Given the description of an element on the screen output the (x, y) to click on. 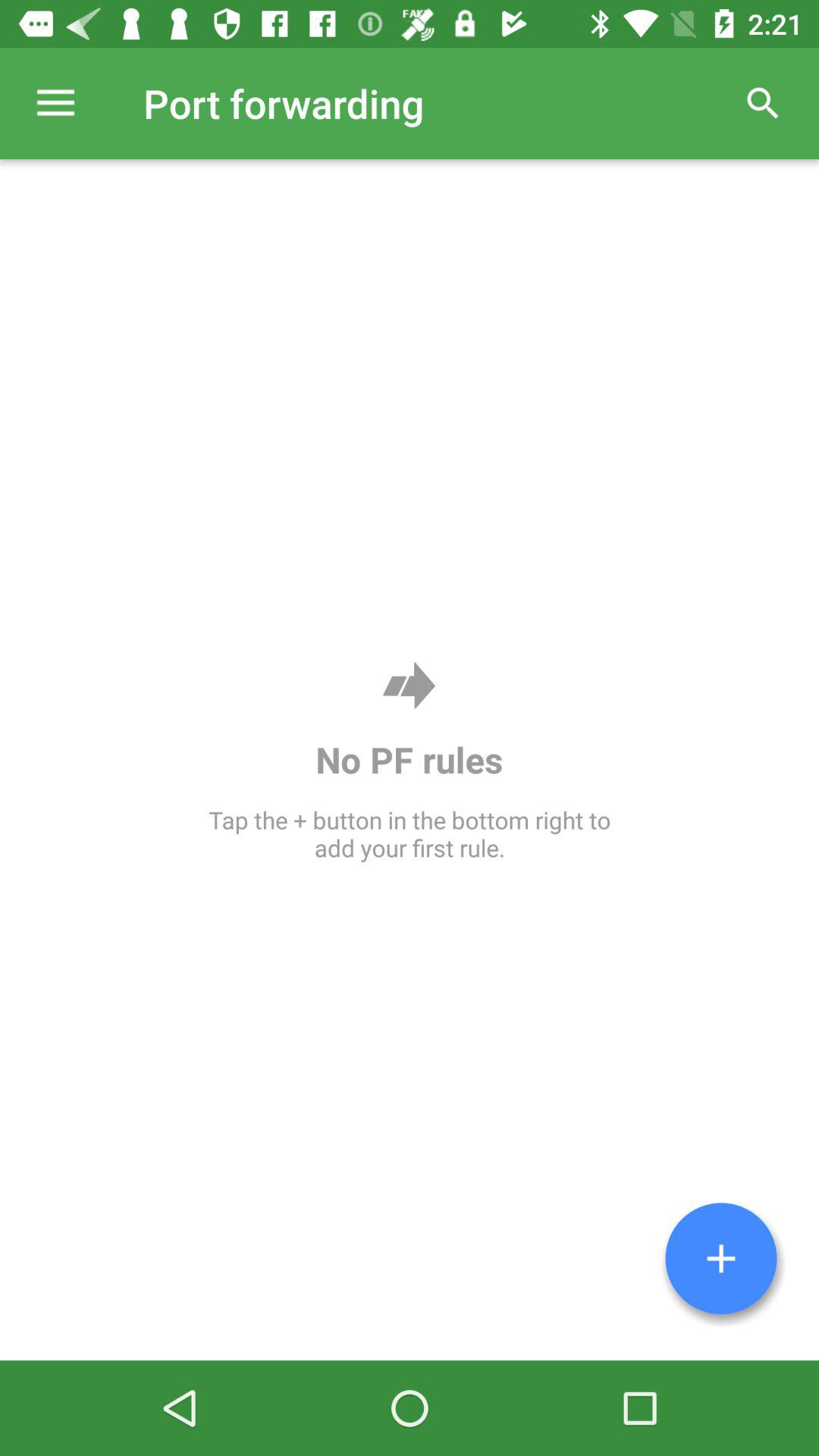
press the item at the bottom right corner (721, 1258)
